Given the description of an element on the screen output the (x, y) to click on. 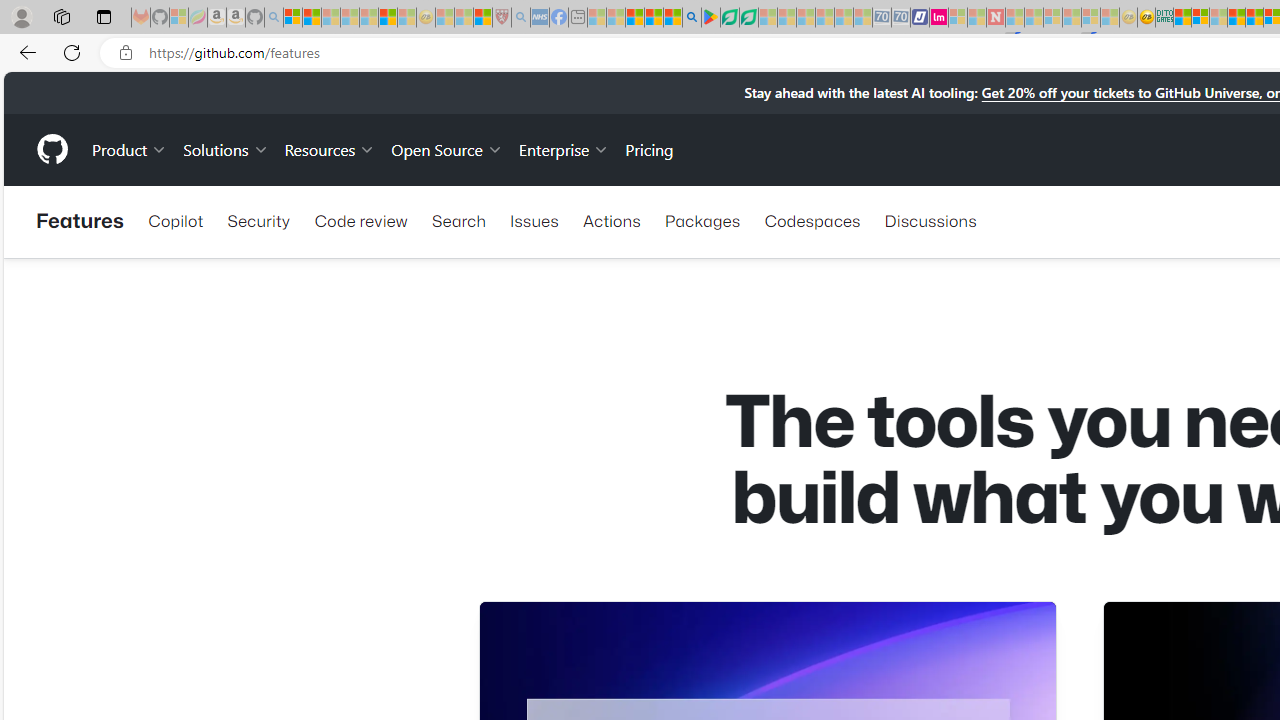
Copilot (175, 220)
Product (130, 148)
Packages (702, 220)
Jobs - lastminute.com Investor Portal (939, 17)
Terms of Use Agreement (729, 17)
